Given the description of an element on the screen output the (x, y) to click on. 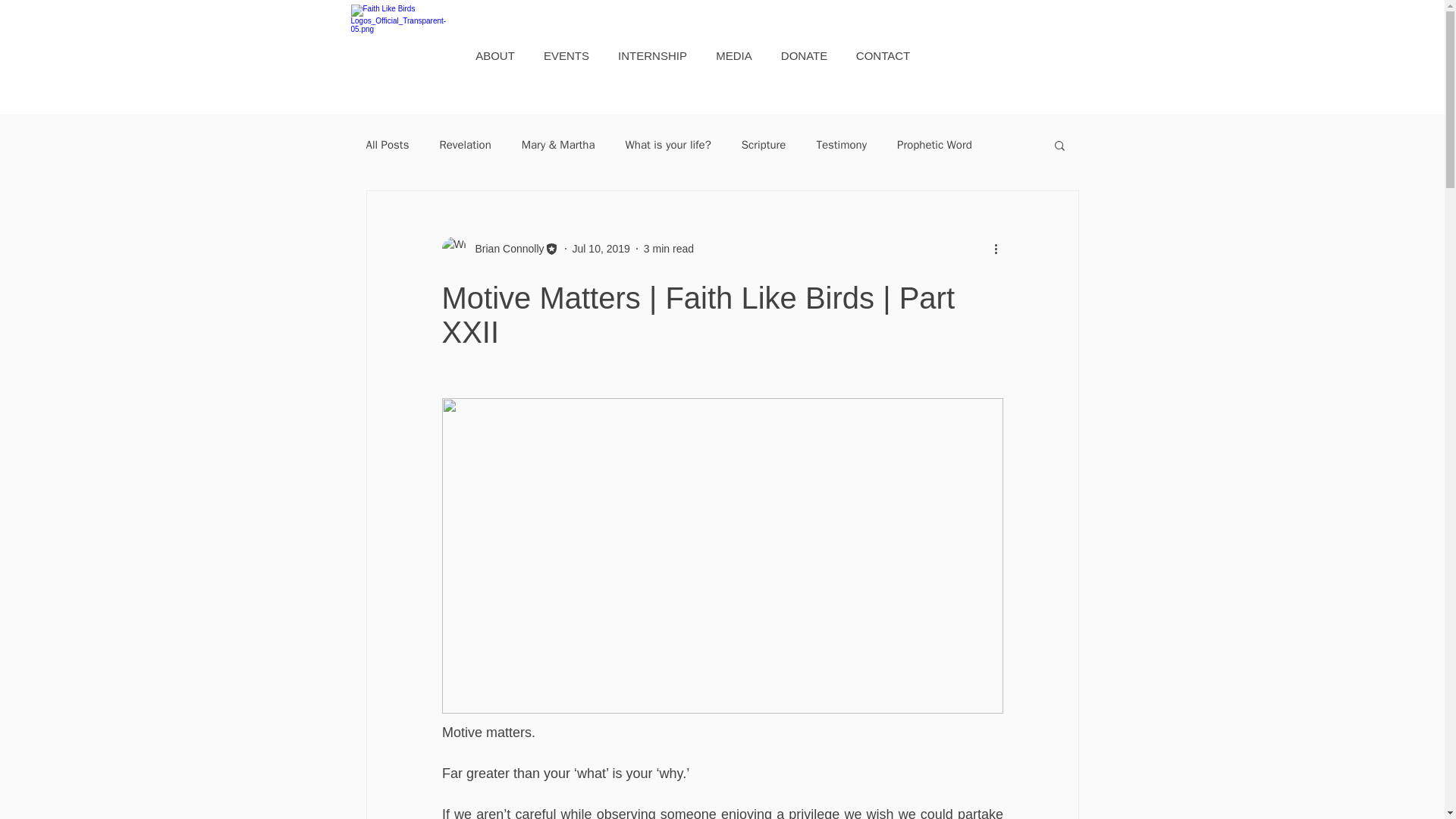
Jul 10, 2019 (601, 248)
CONTACT (882, 55)
Scripture (763, 145)
Testimony (840, 145)
Brian Connolly (504, 248)
ABOUT (494, 55)
3 min read (668, 248)
What is your life? (668, 145)
Prophetic Word (934, 145)
INTERNSHIP (652, 55)
All Posts (387, 145)
EVENTS (566, 55)
Brian Connolly (499, 248)
Revelation (464, 145)
DONATE (803, 55)
